Given the description of an element on the screen output the (x, y) to click on. 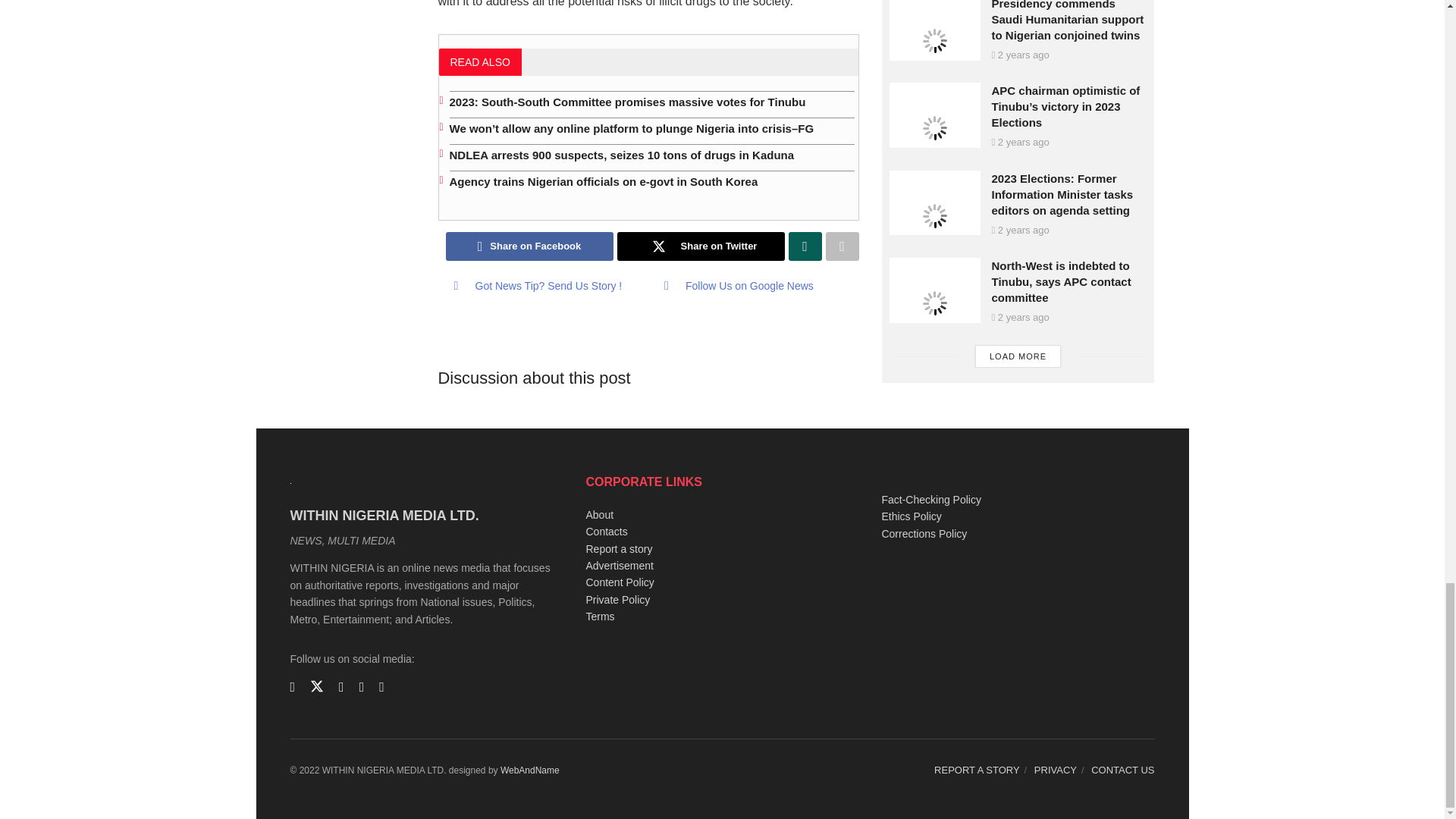
WEB AND NAME (529, 769)
